Given the description of an element on the screen output the (x, y) to click on. 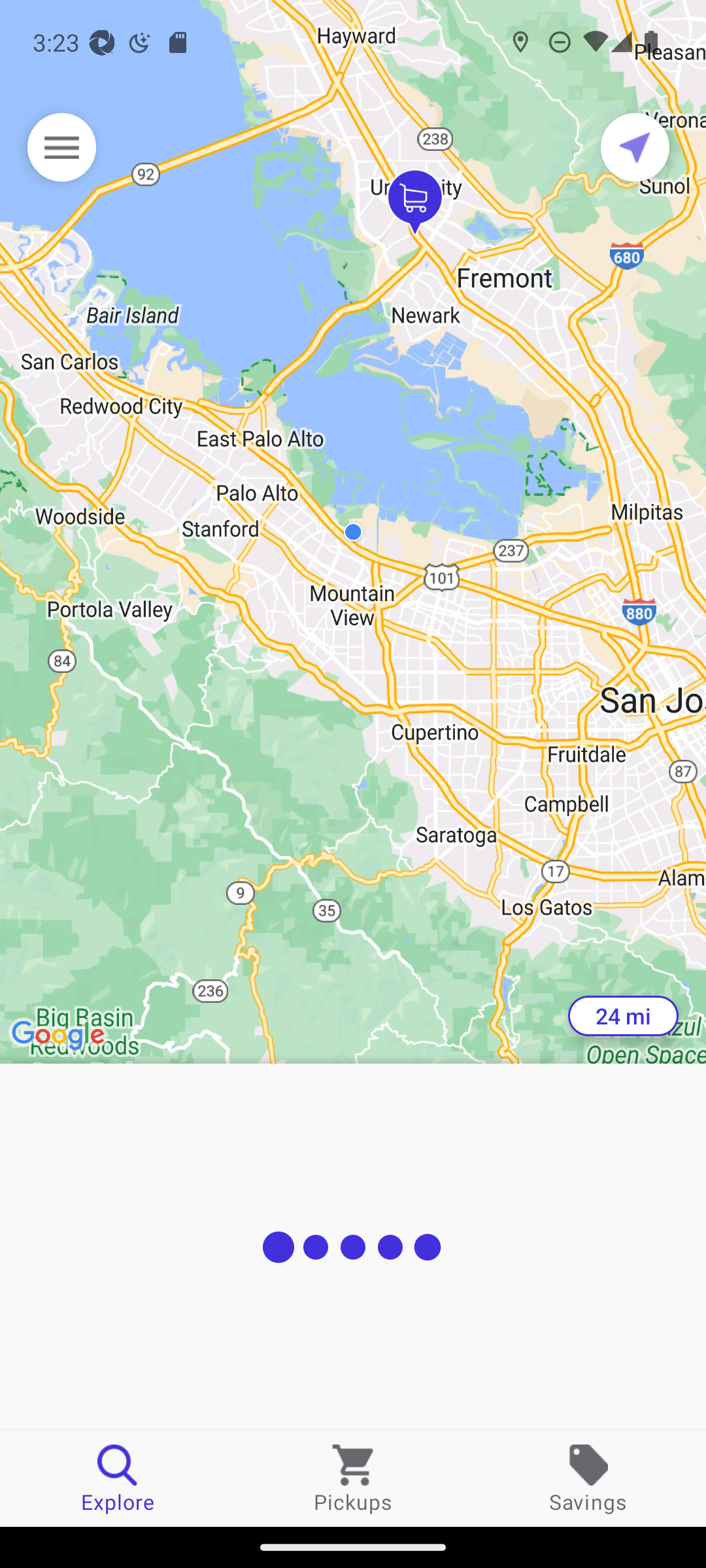
Menu (61, 146)
Current location (634, 146)
24 mi (623, 1015)
Pickups (352, 1478)
Savings (588, 1478)
